Given the description of an element on the screen output the (x, y) to click on. 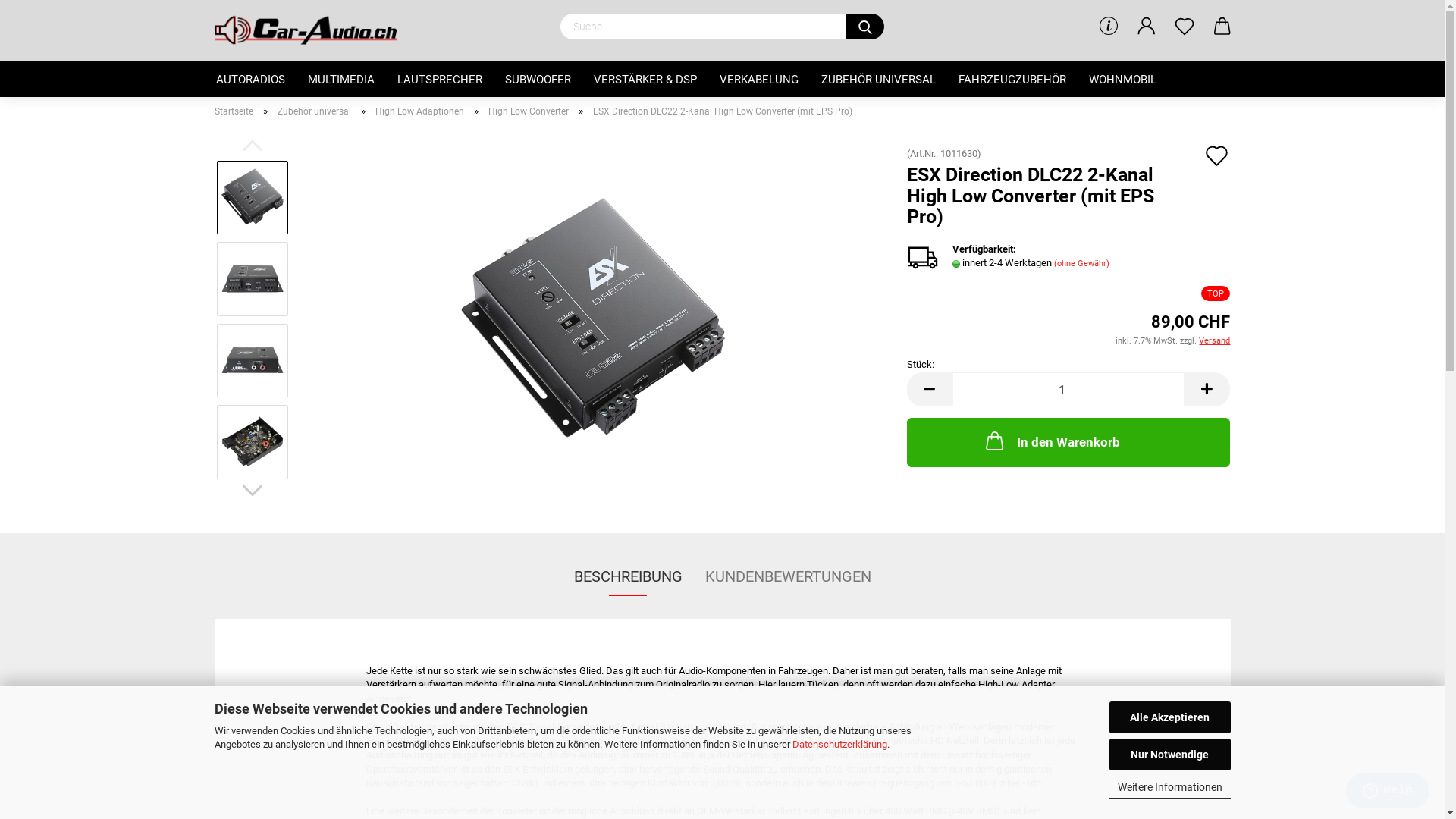
In den Warenkorb Element type: text (1068, 442)
SUBWOOFER Element type: text (536, 78)
VERKABELUNG Element type: text (758, 78)
Car-Audio.ch Element type: hover (310, 30)
High Low Converter Element type: text (528, 111)
KUNDENBEWERTUNGEN Element type: text (787, 577)
MULTIMEDIA Element type: text (340, 78)
LAUTSPRECHER Element type: text (438, 78)
Alle Akzeptieren Element type: text (1169, 716)
WOHNMOBIL Element type: text (1121, 78)
BESCHREIBUNG Element type: text (627, 577)
High Low Adaptionen Element type: text (418, 111)
Opens a widget where you can find more information Element type: hover (1387, 792)
ESX Direction DLC22 2-Kanal High Low Converter (mit EPS Pro) Element type: hover (592, 318)
ESX Direction DLC22 2-Kanal High Low Converter (mit EPS Pro) Element type: hover (592, 319)
Weitere Informationen Element type: text (1169, 787)
Versand Element type: text (1214, 340)
Nur Notwendige Element type: text (1169, 754)
AUTORADIOS Element type: text (250, 78)
Startseite Element type: text (232, 111)
